Given the description of an element on the screen output the (x, y) to click on. 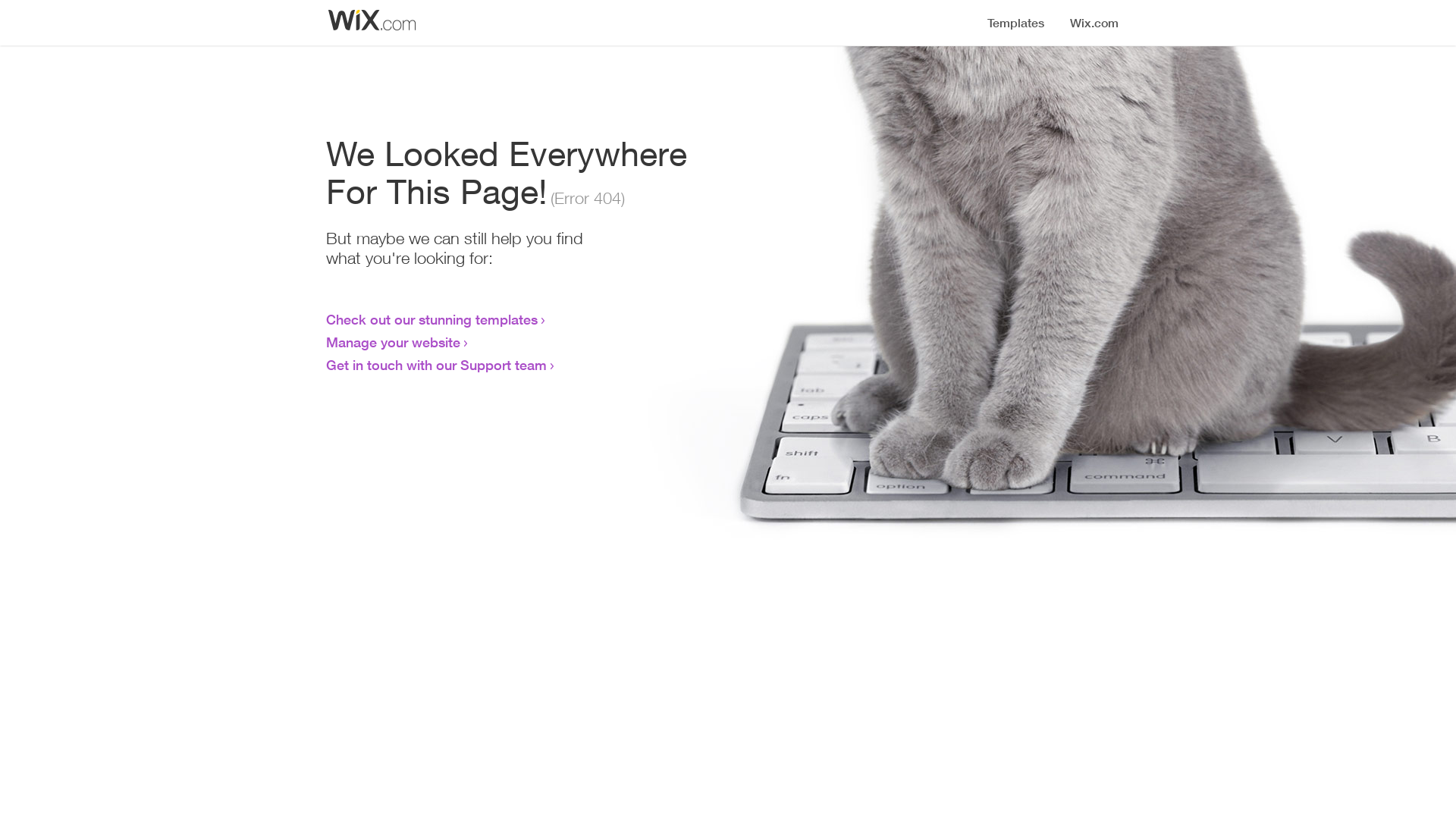
Get in touch with our Support team Element type: text (436, 364)
Manage your website Element type: text (393, 341)
Check out our stunning templates Element type: text (431, 318)
